Given the description of an element on the screen output the (x, y) to click on. 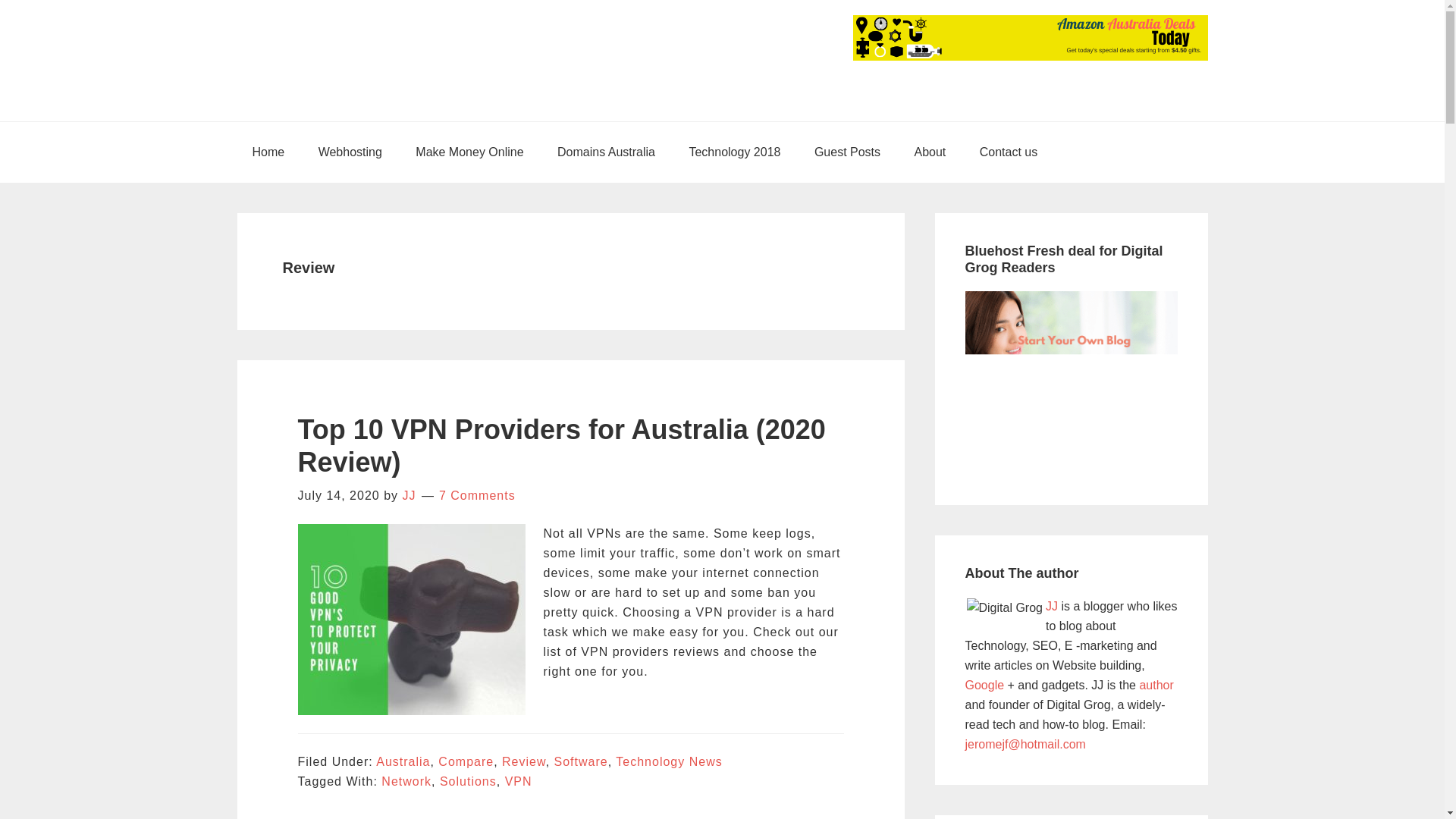
Tips and ideas to make money online (469, 152)
Technology News (668, 761)
About (929, 152)
JJ (407, 495)
Guest Posts (847, 152)
JJ Fernz (1051, 605)
Review (524, 761)
Contact us (1007, 152)
Solutions (467, 780)
Webhosting (349, 152)
Network (405, 780)
JJ's blog (1004, 607)
Software (581, 761)
Make Money Online (469, 152)
7 Comments (477, 495)
